Given the description of an element on the screen output the (x, y) to click on. 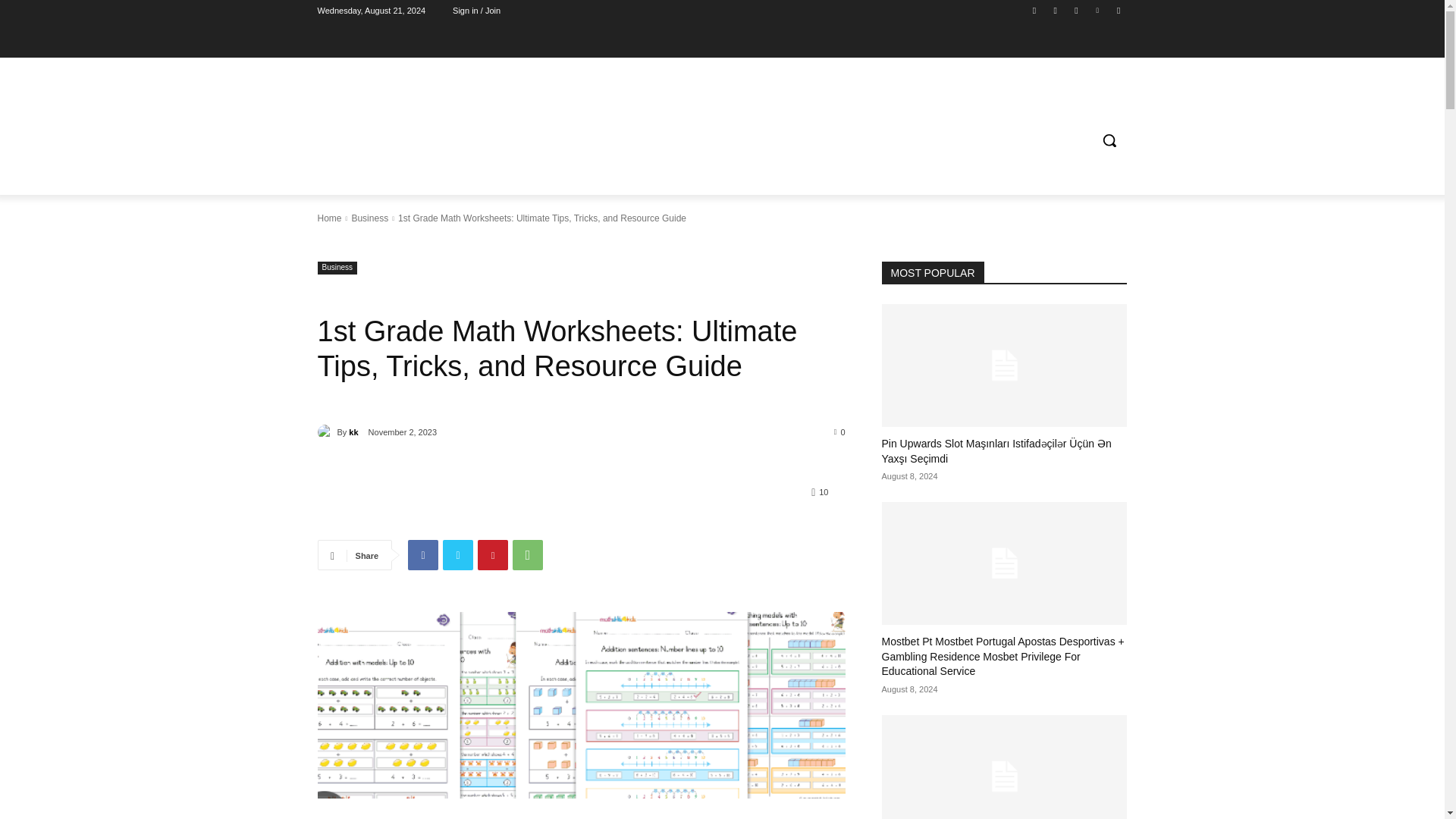
Twitter (457, 554)
Twitter (1075, 9)
Home (328, 217)
kk (326, 432)
Instagram (1055, 9)
Business (336, 267)
View all posts in Business (369, 217)
Vimeo (1097, 9)
0 (839, 430)
Pinterest (492, 554)
